Given the description of an element on the screen output the (x, y) to click on. 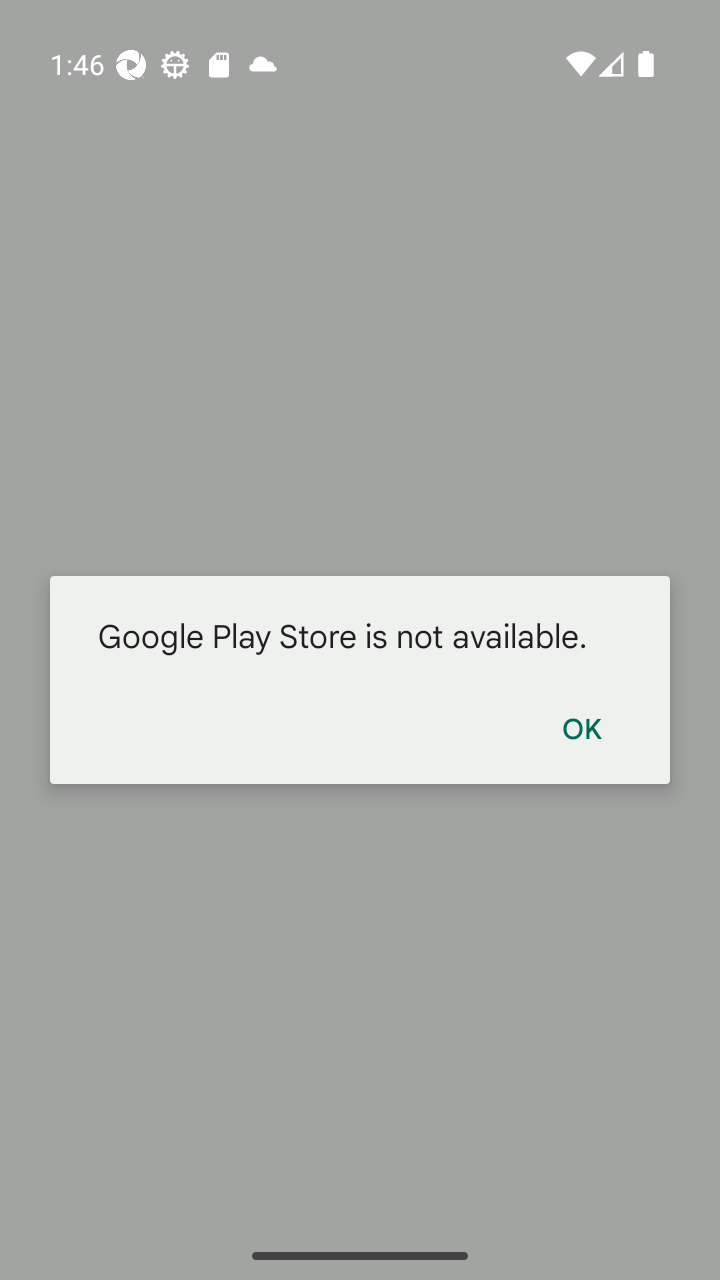
OK (581, 727)
